Given the description of an element on the screen output the (x, y) to click on. 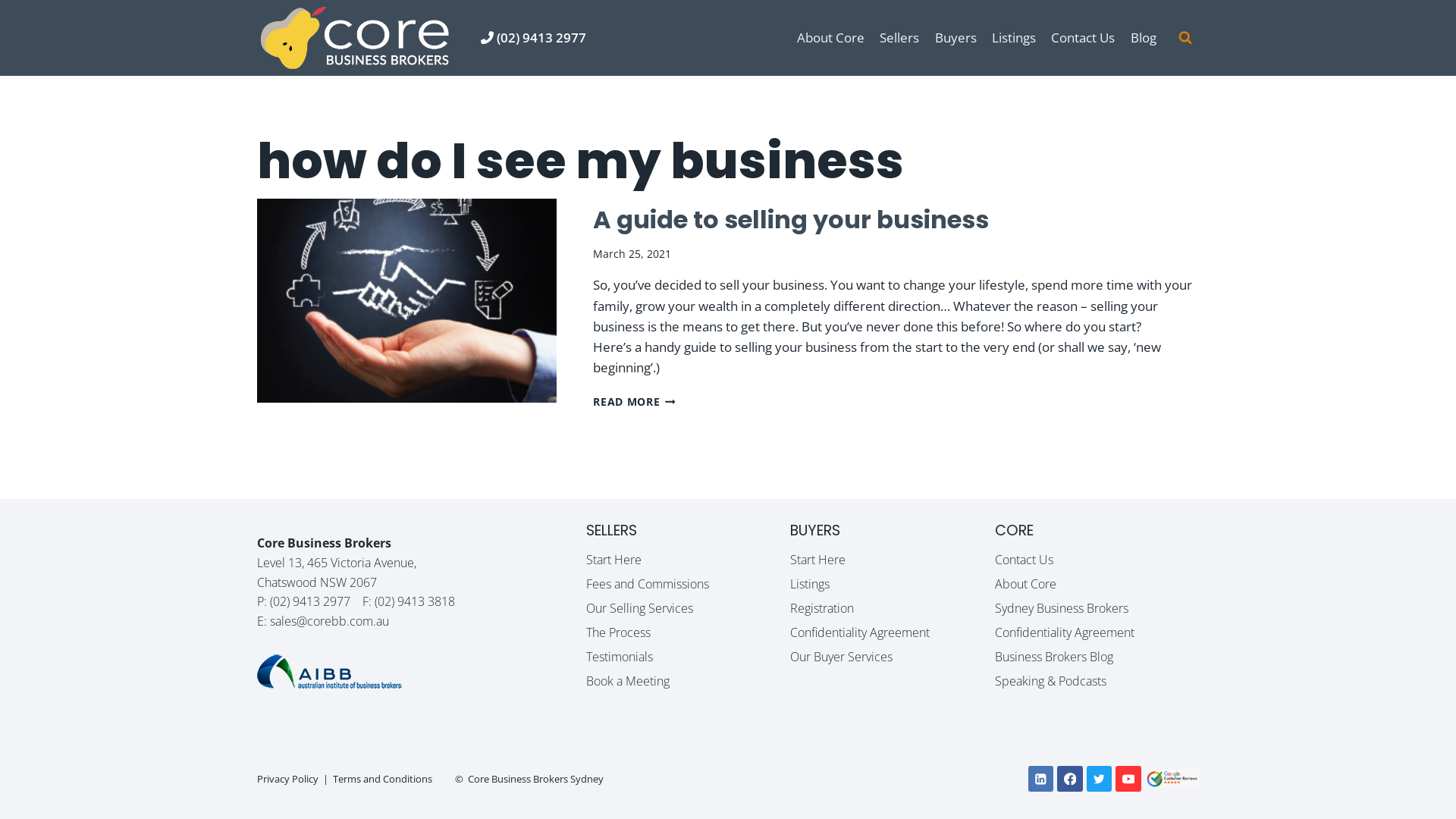
Start Here Element type: text (892, 559)
Blog Element type: text (1143, 37)
Listings Element type: text (1013, 37)
Registration Element type: text (892, 608)
Sydney Business Brokers Element type: text (1096, 608)
Contact Us Element type: text (1082, 37)
Start Here Element type: text (688, 559)
Book a Meeting Element type: text (688, 680)
The Process Element type: text (688, 632)
About Core Element type: text (830, 37)
Sellers Element type: text (899, 37)
Privacy Policy Element type: text (287, 778)
Terms and Conditions Element type: text (382, 778)
sales@corebb.com.au Element type: text (329, 620)
A guide to selling your business Element type: text (790, 219)
Confidentiality Agreement Element type: text (892, 632)
Confidentiality Agreement Element type: text (1096, 632)
Buyers Element type: text (954, 37)
Contact Us Element type: text (1096, 559)
Listings Element type: text (892, 583)
About Core Element type: text (1096, 583)
Our Buyer Services Element type: text (892, 656)
Fees and Commissions Element type: text (688, 583)
Our Selling Services Element type: text (688, 608)
Testimonials Element type: text (688, 656)
Speaking & Podcasts Element type: text (1096, 680)
READ MORE
A GUIDE TO SELLING YOUR BUSINESS Element type: text (634, 401)
Business Brokers Blog Element type: text (1096, 656)
